Given the description of an element on the screen output the (x, y) to click on. 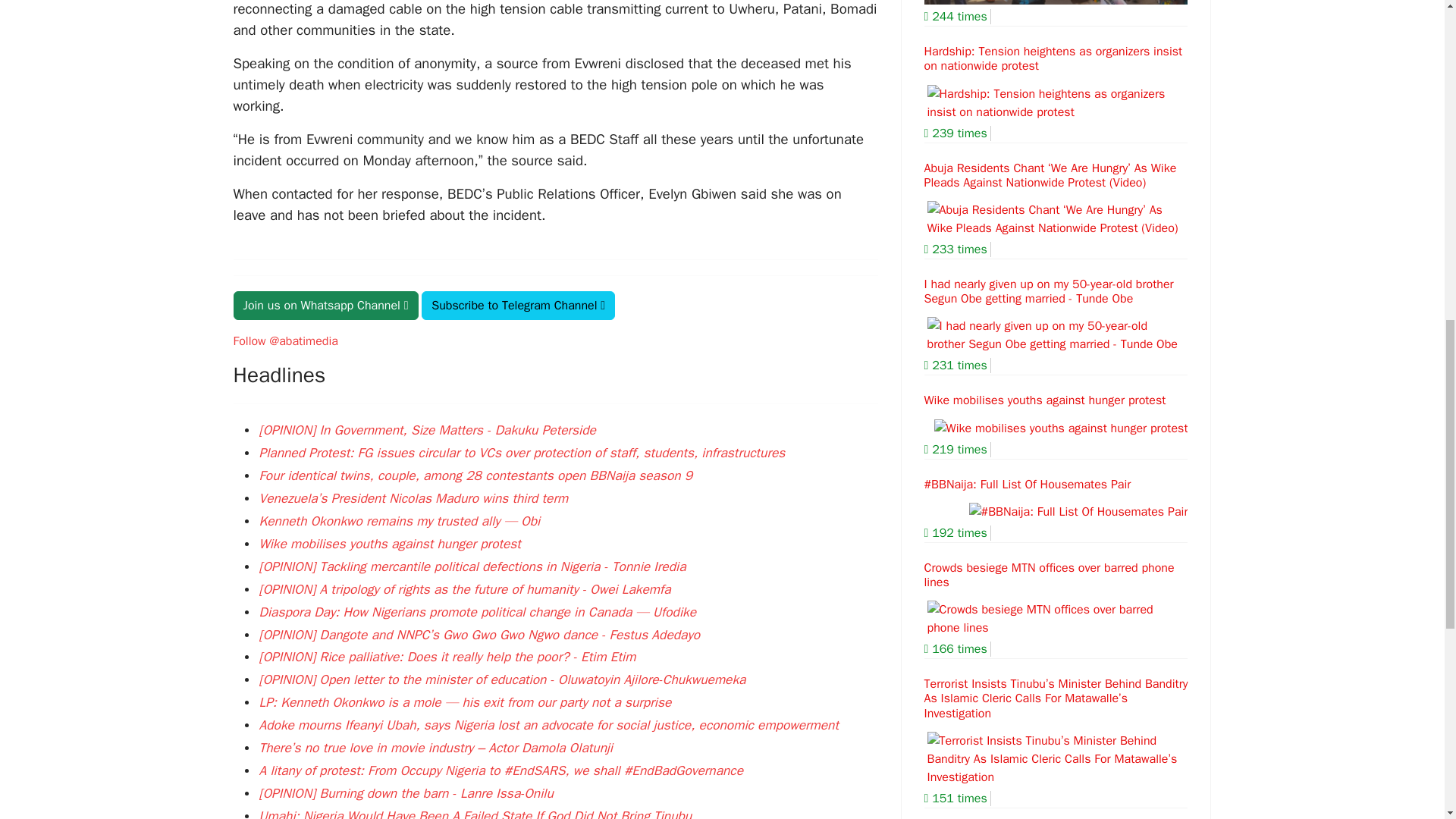
Join us on Whatsapp Channel (325, 305)
Subscribe to Telegram Channel (518, 305)
Wike mobilises youths against hunger protest (390, 543)
